Given the description of an element on the screen output the (x, y) to click on. 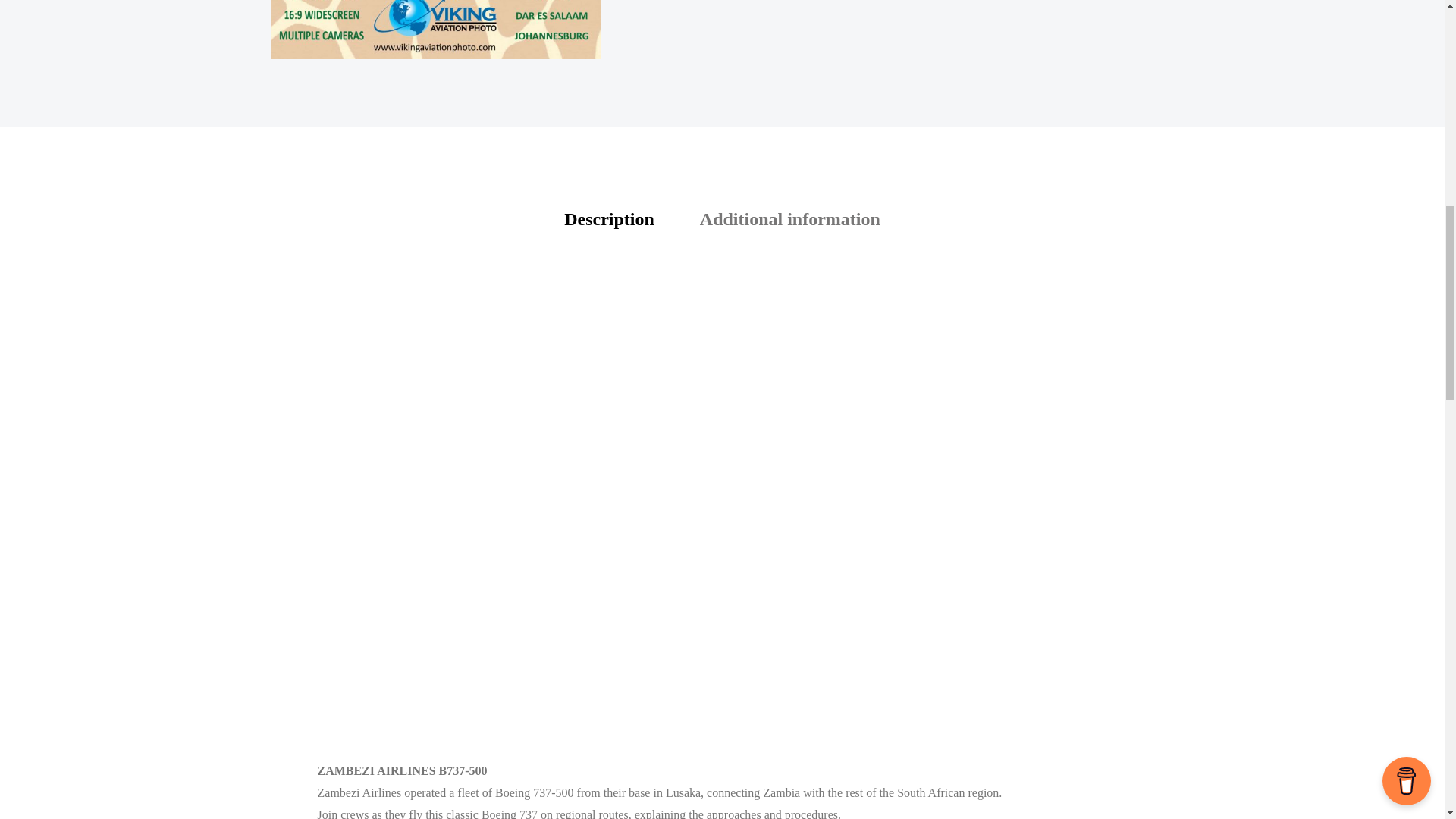
Description (608, 219)
Additional information (790, 219)
